Given the description of an element on the screen output the (x, y) to click on. 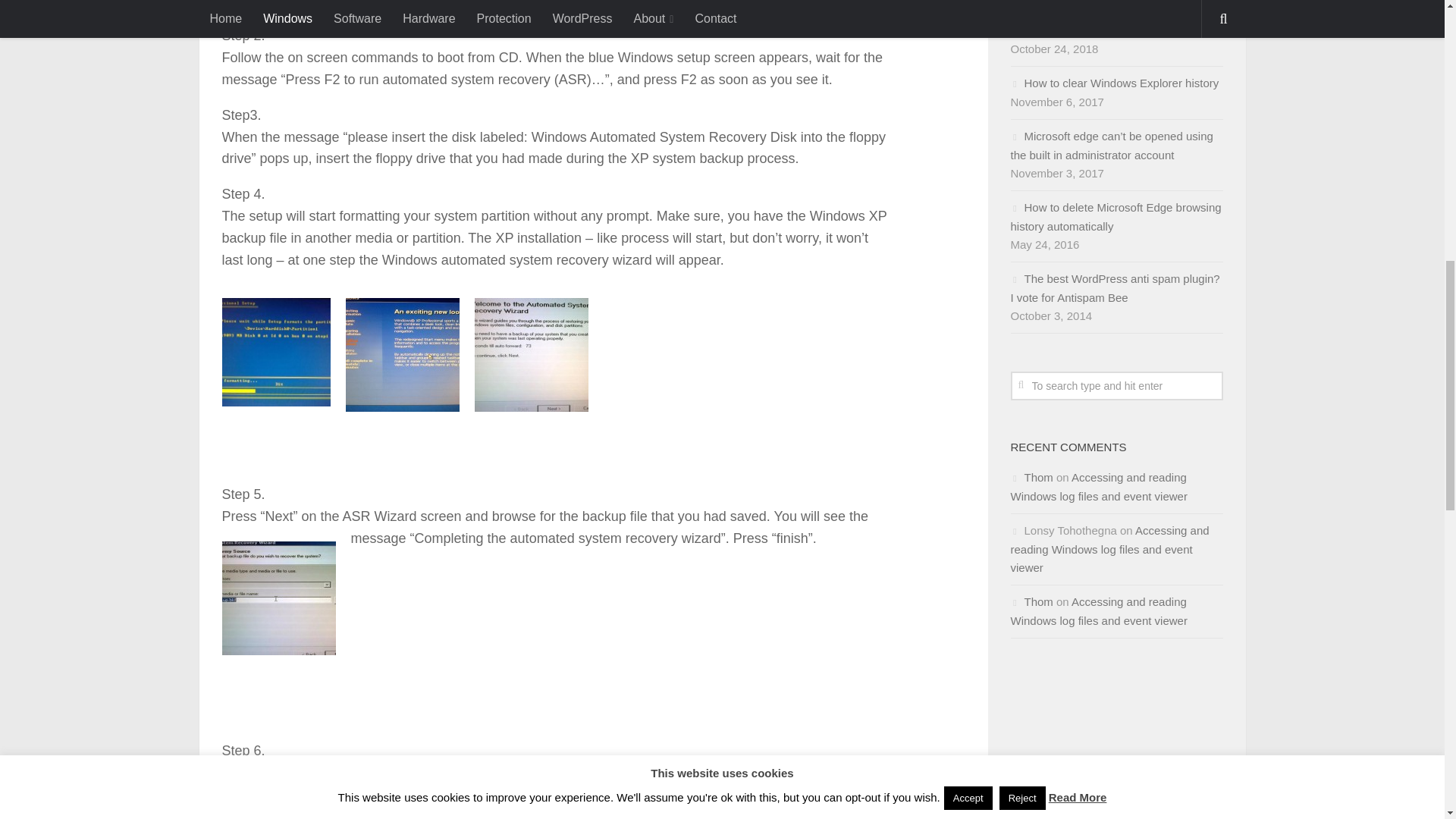
To search type and hit enter (1116, 385)
How to clear Windows Explorer history (1114, 82)
To search type and hit enter (1116, 385)
The best WordPress anti spam plugin? I vote for Antispam Bee (1115, 287)
How to delete Microsoft Edge browsing history automatically (1115, 216)
